Given the description of an element on the screen output the (x, y) to click on. 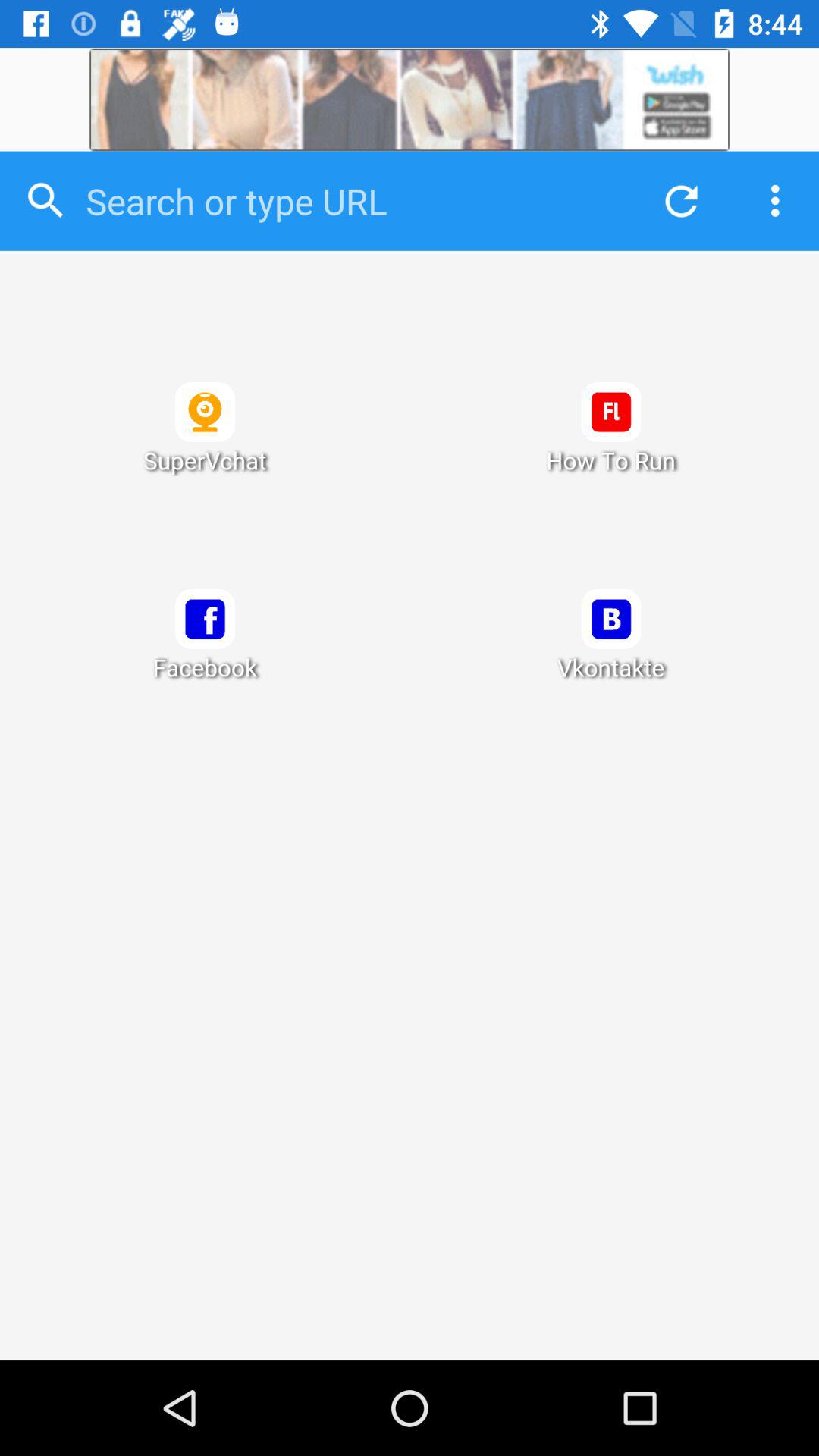
advertisement (409, 99)
